Given the description of an element on the screen output the (x, y) to click on. 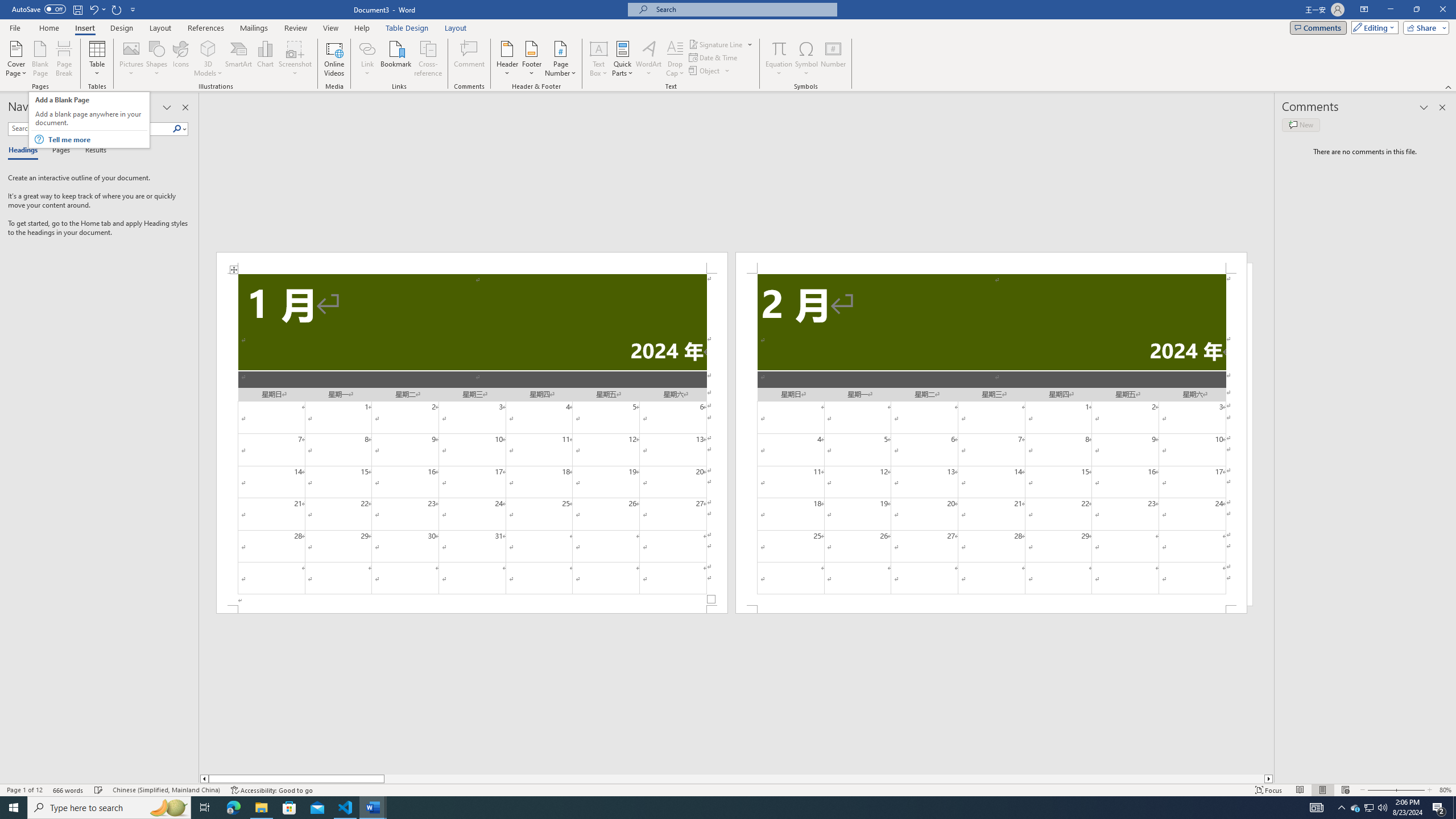
Header -Section 2- (991, 263)
Accessibility Checker Accessibility: Good to go (271, 790)
Screenshot (295, 58)
Online Videos... (333, 58)
Object... (705, 69)
Page 1 content (471, 439)
Drop Cap (674, 58)
Word Count 666 words (68, 790)
